Given the description of an element on the screen output the (x, y) to click on. 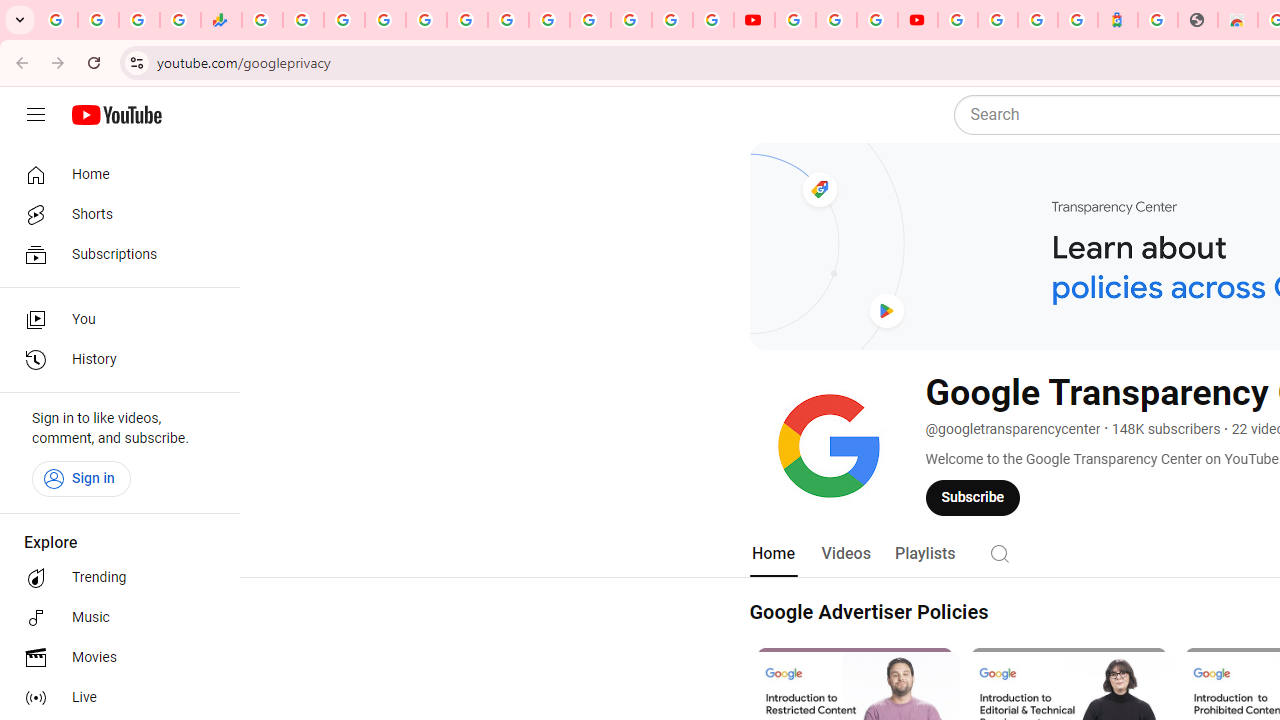
Privacy Checkup (712, 20)
Sign in - Google Accounts (384, 20)
Create your Google Account (877, 20)
Atour Hotel - Google hotels (1117, 20)
Google Advertiser Policies (868, 611)
Google Account Help (836, 20)
Sign in (81, 478)
Home (772, 553)
Shorts (113, 214)
Videos (845, 553)
YouTube Home (116, 115)
Sign in - Google Accounts (671, 20)
